Given the description of an element on the screen output the (x, y) to click on. 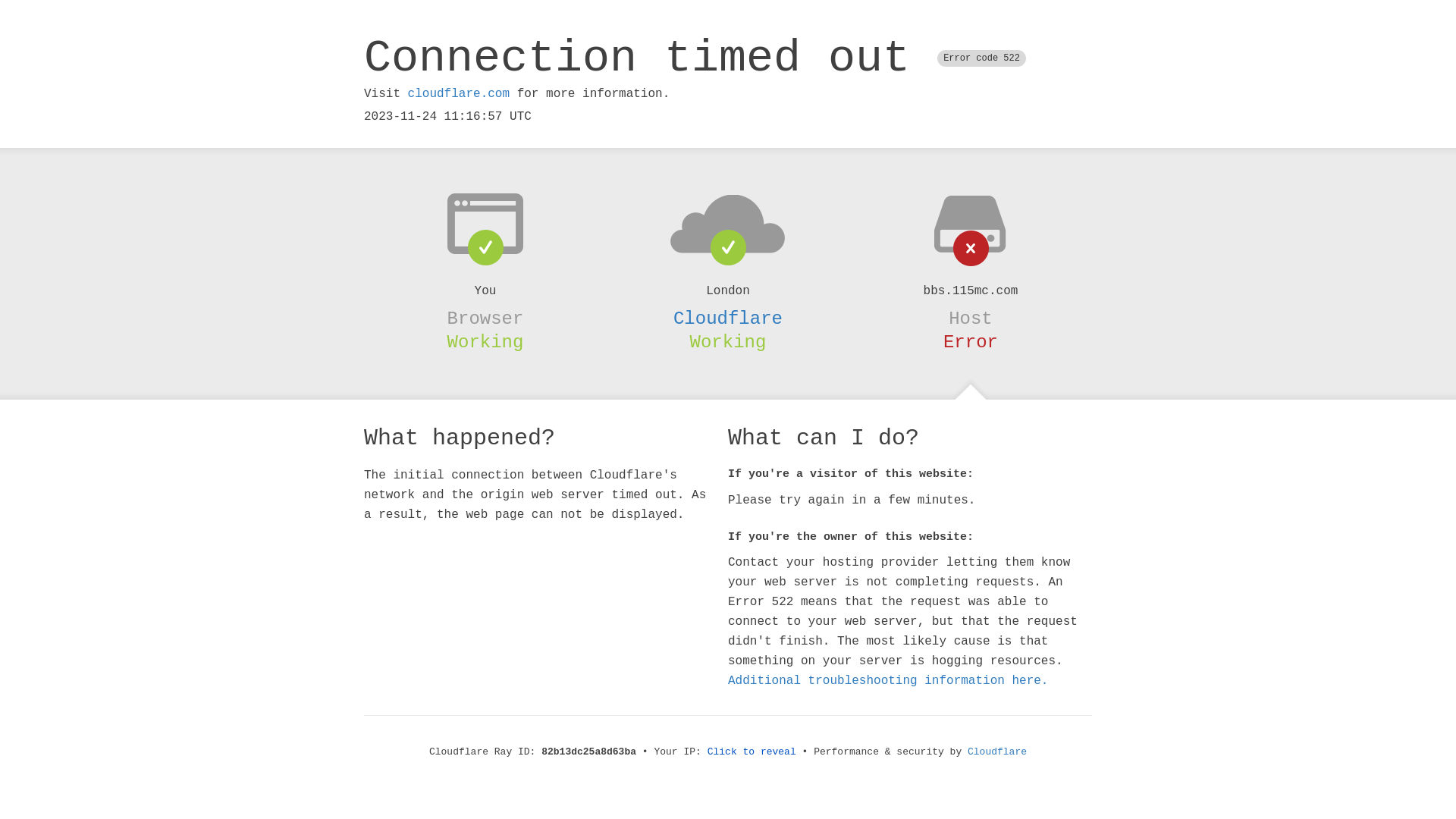
cloudflare.com Element type: text (458, 93)
Cloudflare Element type: text (996, 751)
Click to reveal Element type: text (751, 751)
Cloudflare Element type: text (727, 318)
Additional troubleshooting information here. Element type: text (888, 680)
